Given the description of an element on the screen output the (x, y) to click on. 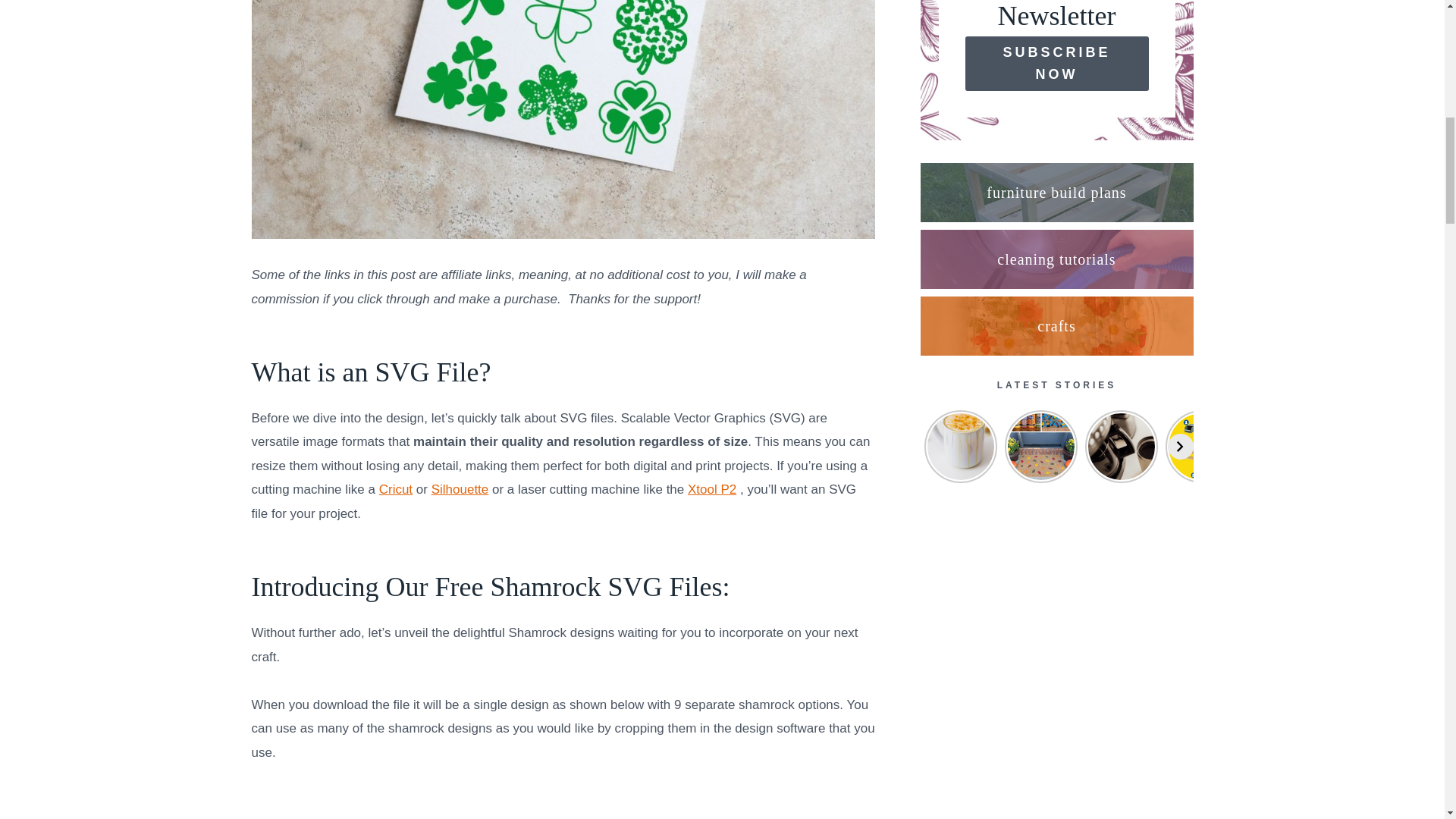
Xtool P2 (711, 489)
Cricut (395, 489)
Silhouette (459, 489)
